Given the description of an element on the screen output the (x, y) to click on. 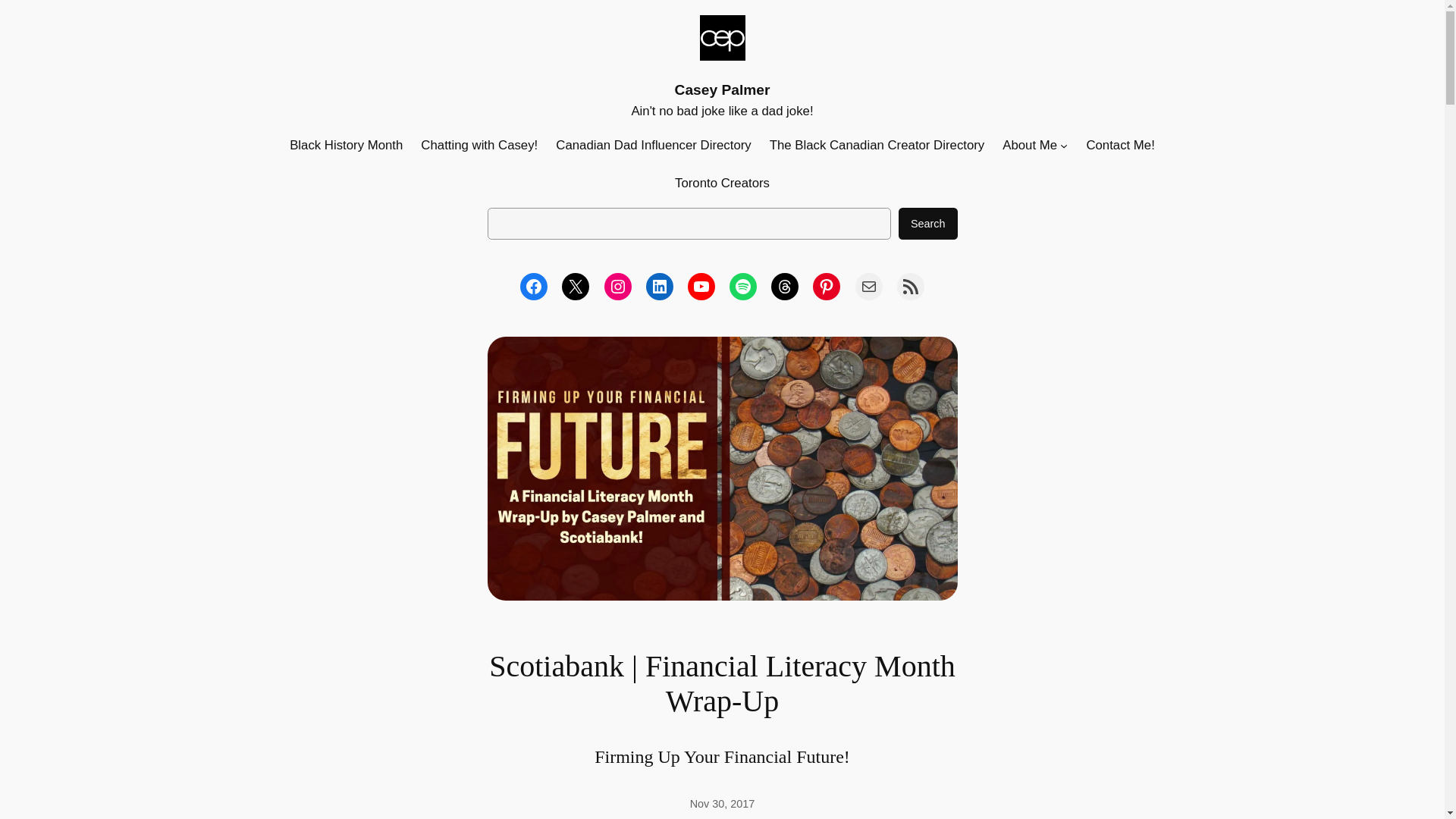
Toronto Creators (722, 183)
An exhaustive list of the dad influencers across Canada (653, 145)
Search (928, 223)
Black Canadians and their modern stories (346, 145)
Black History Month (346, 145)
Nov 30, 2017 (722, 803)
Chatting with Casey on Spotify (743, 286)
Contact Casey Palmer (1120, 145)
Casey Palmer's Threads account (784, 286)
About Casey Palmer (1030, 145)
Casey Palmer's LinkedIn account (659, 286)
Contact Me! (1120, 145)
Black Content Creators, Influencers, Instagrammers and More! (877, 145)
The Black Canadian Creator Directory (877, 145)
Contact Casey Palmer (869, 286)
